Given the description of an element on the screen output the (x, y) to click on. 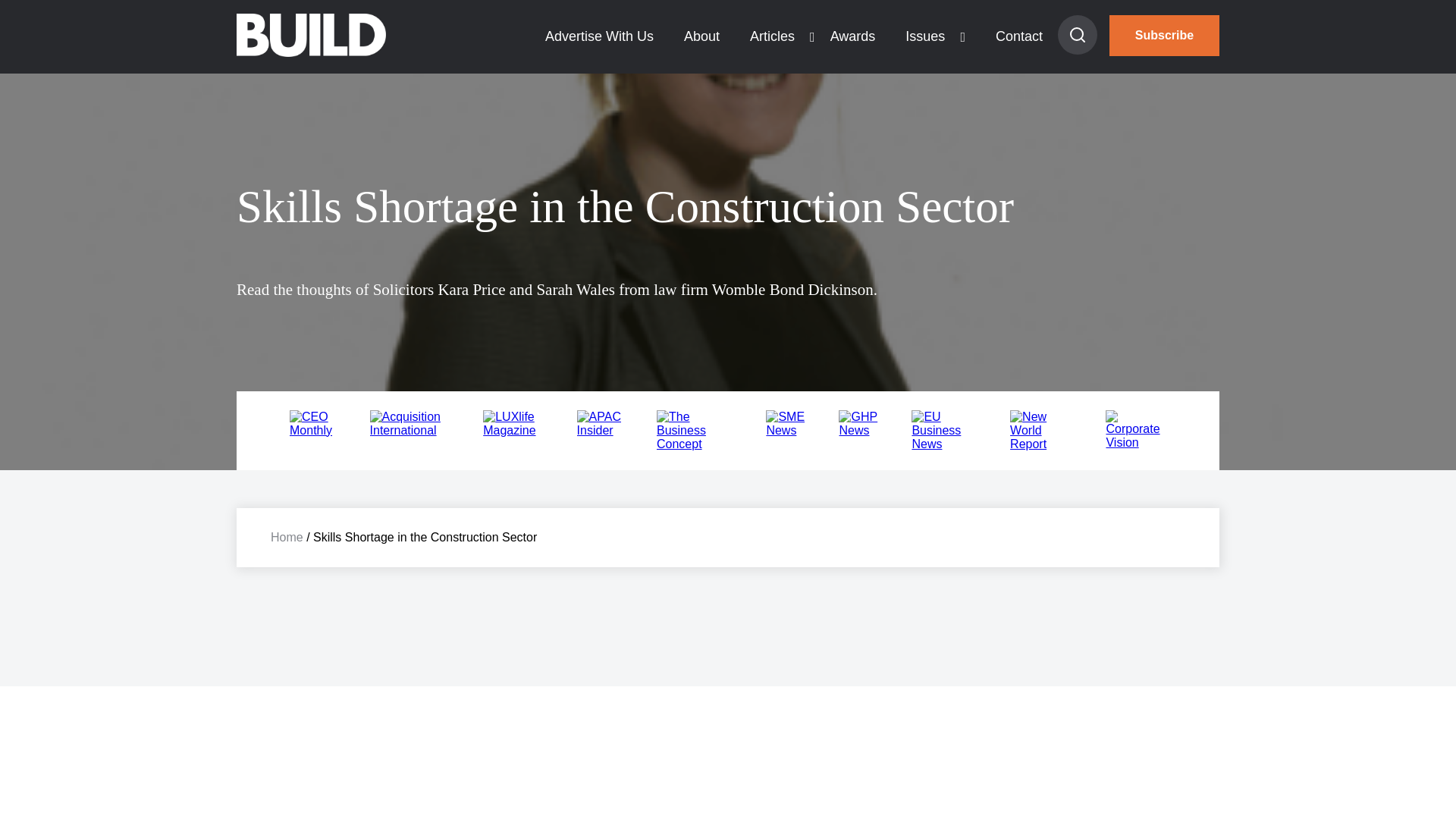
New World Report (1042, 443)
Articles (772, 36)
Subscribe (1164, 35)
CEO Monthly (314, 430)
About (701, 36)
Awards (853, 36)
Contact (1018, 36)
The Business Concept (695, 443)
Issues (924, 36)
APAC Insider (601, 430)
